Given the description of an element on the screen output the (x, y) to click on. 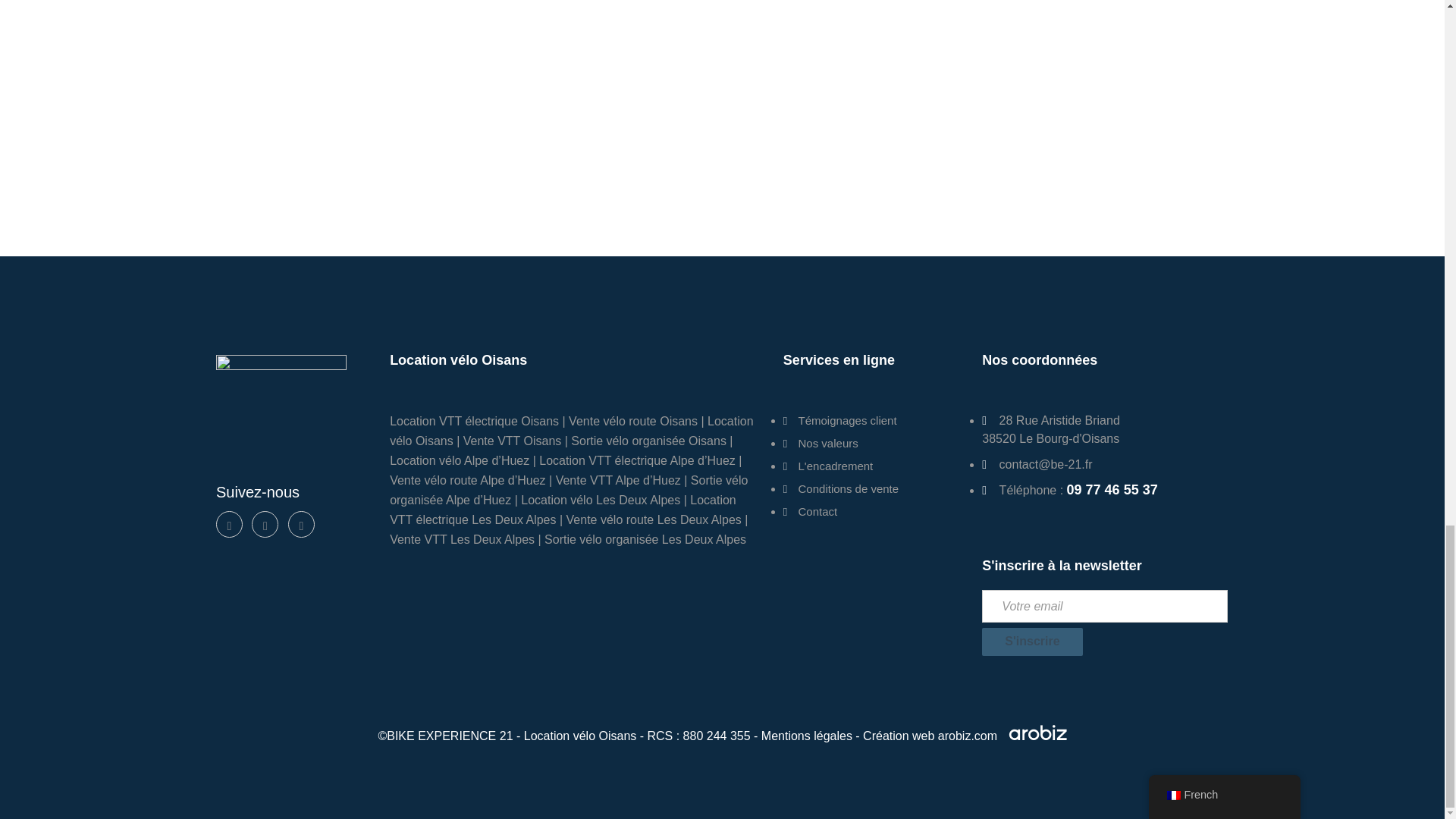
S'inscrire (1031, 642)
